Given the description of an element on the screen output the (x, y) to click on. 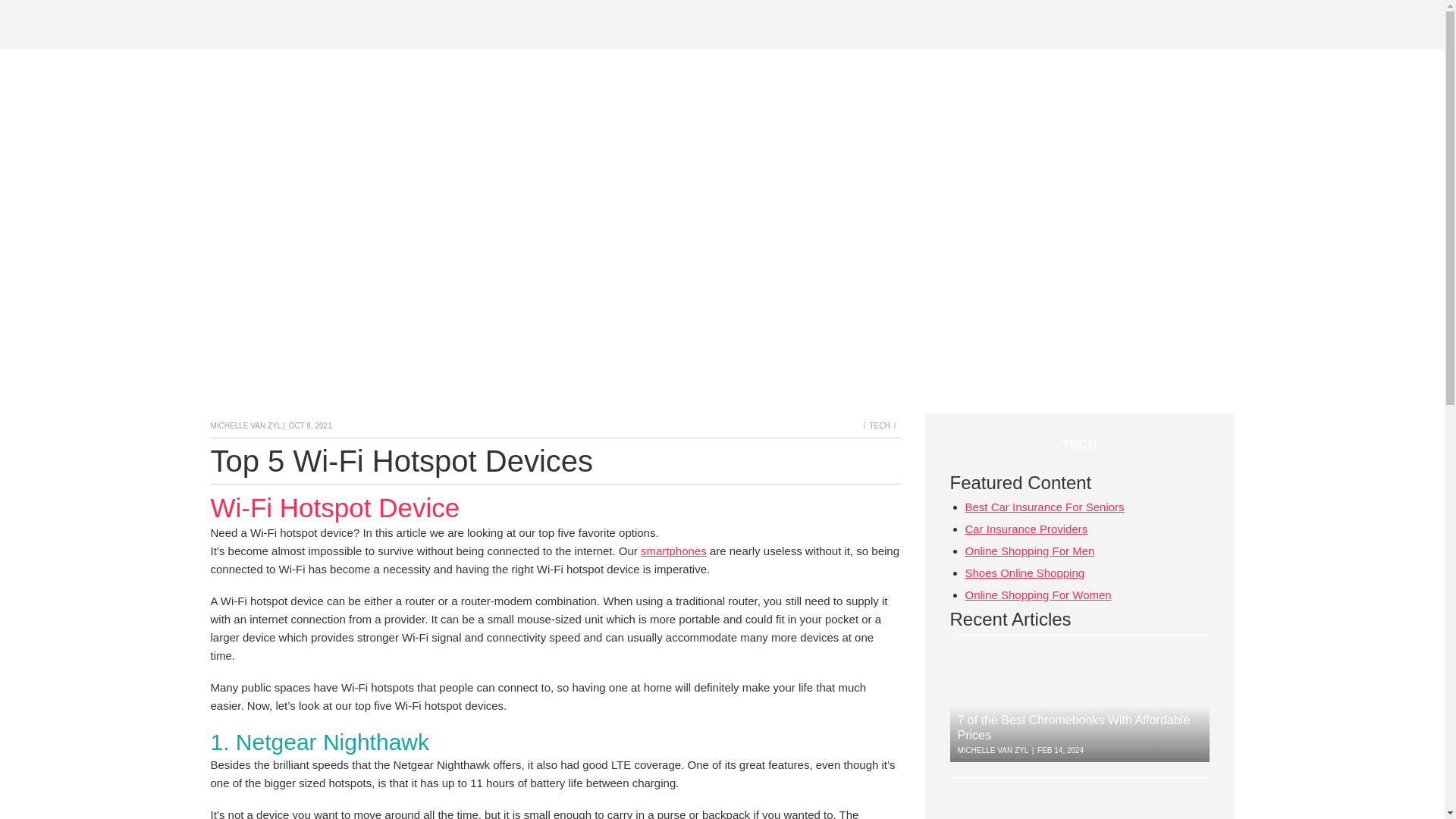
MICHELLE VAN ZYL (246, 425)
FindBlackFridaySales (286, 24)
TECH (884, 425)
HOME (864, 425)
